Given the description of an element on the screen output the (x, y) to click on. 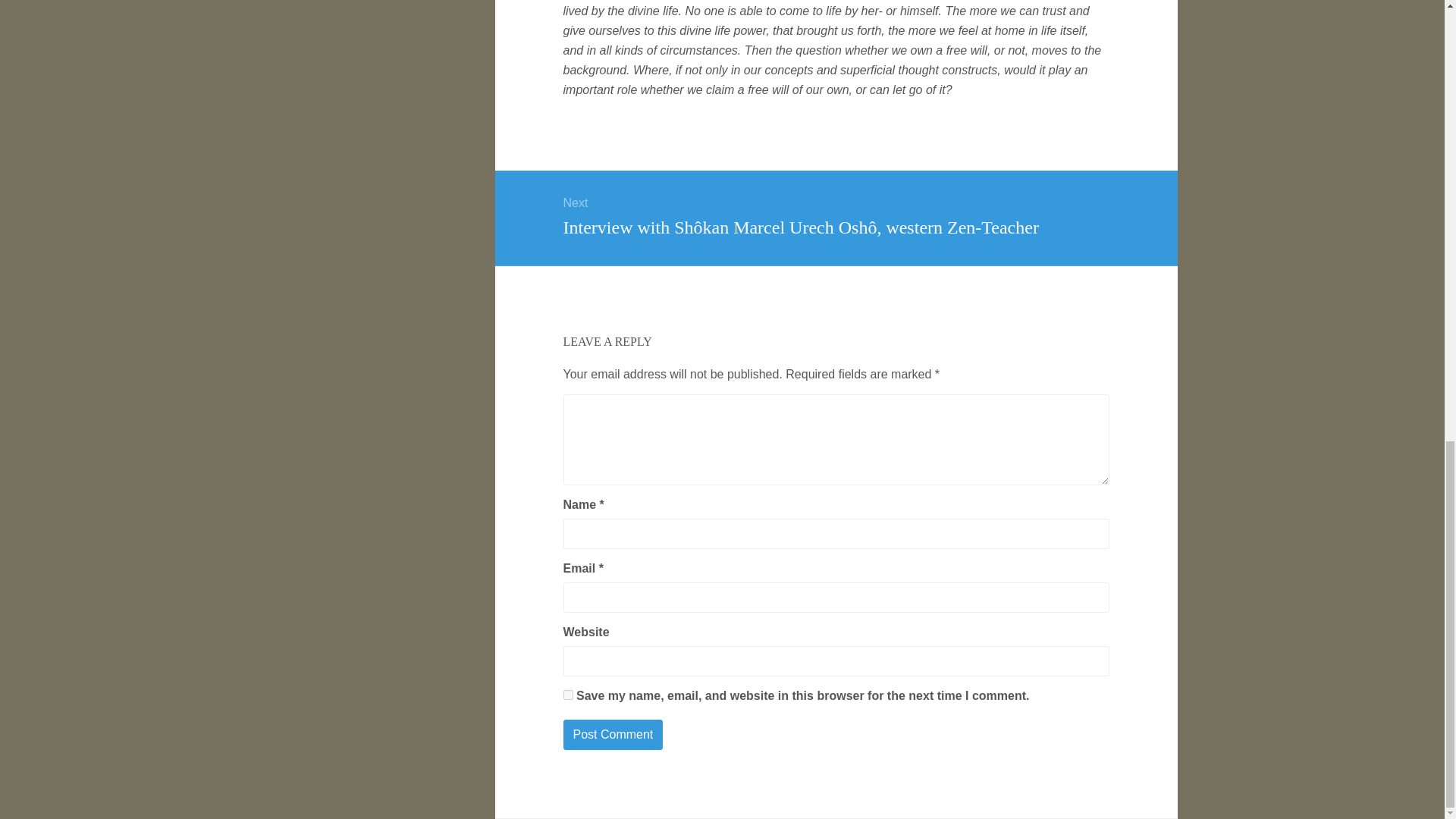
Post Comment (612, 734)
Post Comment (612, 734)
yes (567, 695)
